Given the description of an element on the screen output the (x, y) to click on. 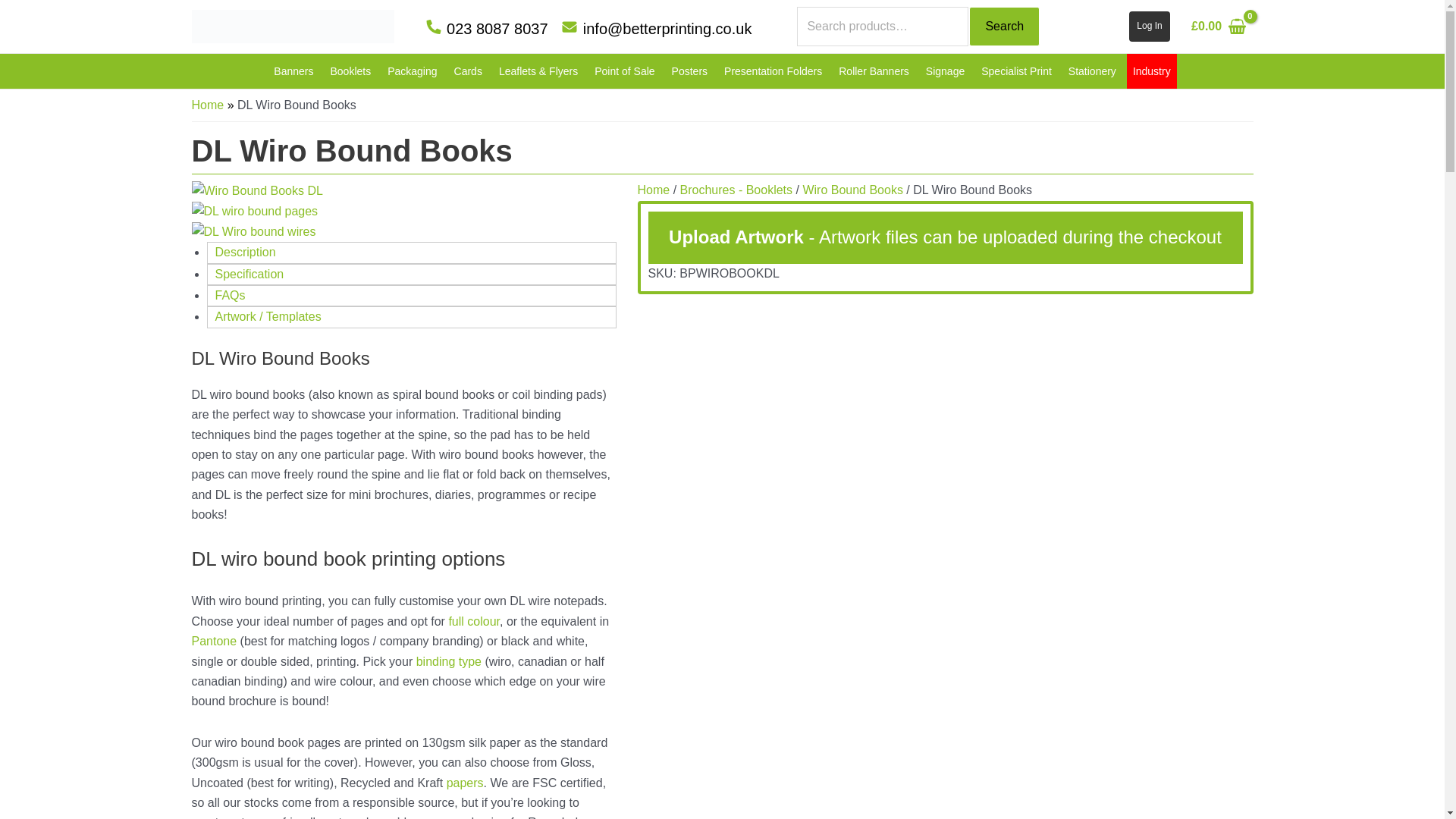
Cards (470, 71)
Banners (295, 71)
DL wiro bound pages (253, 210)
Search (1004, 25)
DL Wiro bound wires (252, 230)
Log In (1149, 26)
Packaging (413, 71)
023 8087 8037 (486, 28)
Booklets (352, 71)
Wiro Bound Books DL (255, 189)
